Given the description of an element on the screen output the (x, y) to click on. 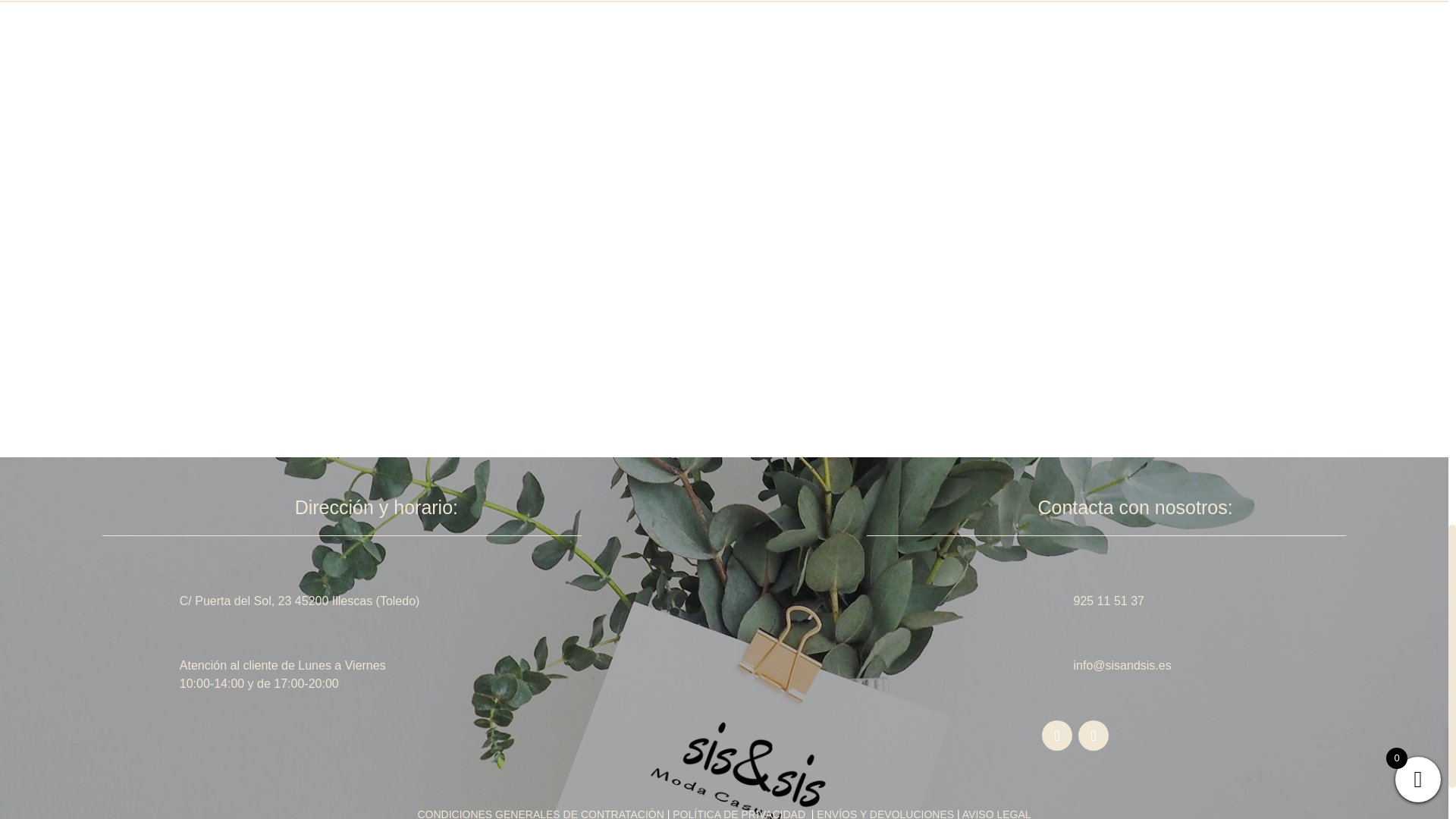
Seguir en Instagram (1093, 735)
Seguir en Facebook (1056, 735)
